Given the description of an element on the screen output the (x, y) to click on. 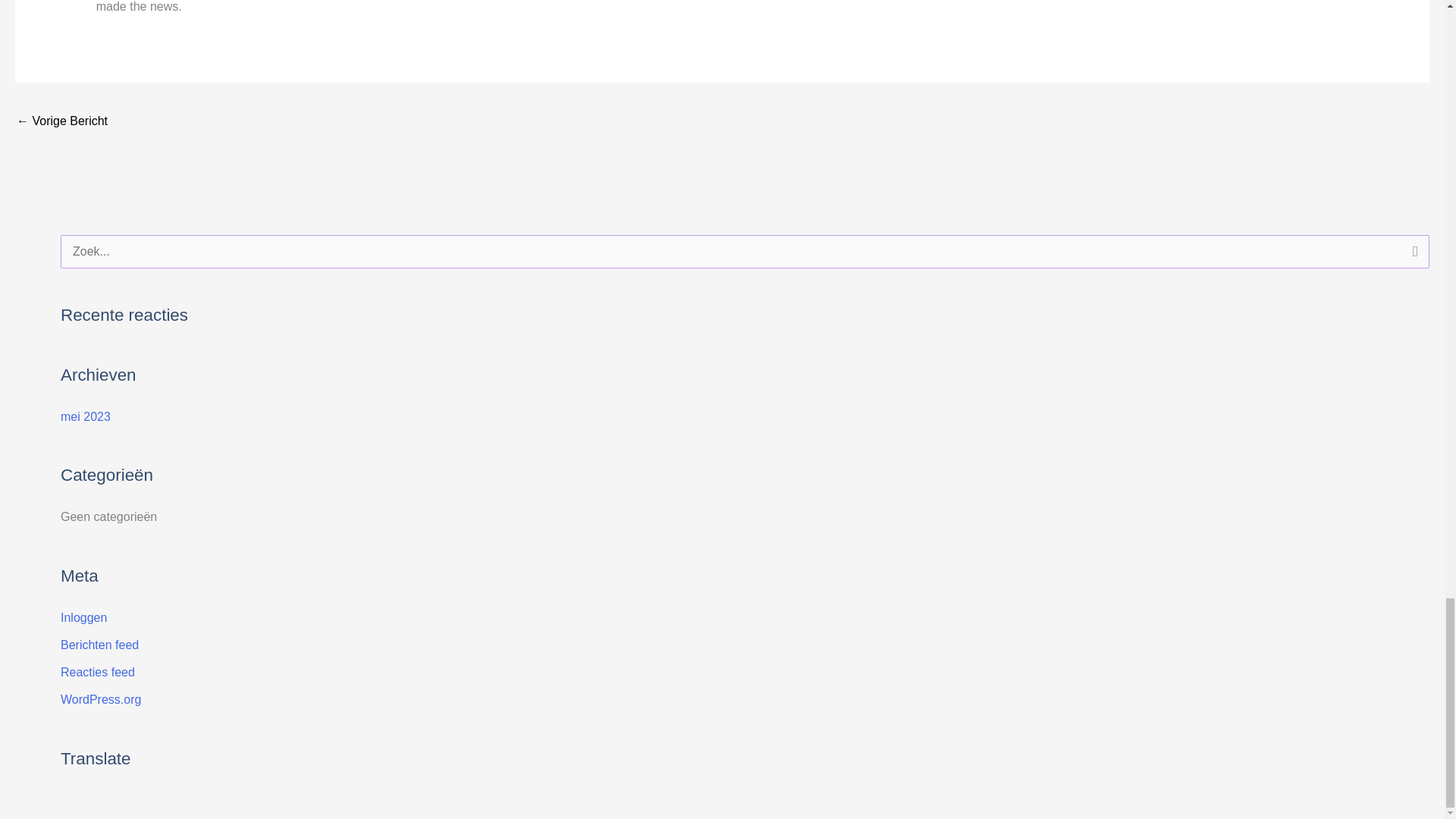
Inloggen (83, 617)
Reacties feed (98, 671)
Berichten feed (99, 644)
mei 2023 (85, 416)
WordPress.org (101, 698)
How Do I Withdraw My Eye Of Horus Megaways Winnings Online (61, 122)
